Given the description of an element on the screen output the (x, y) to click on. 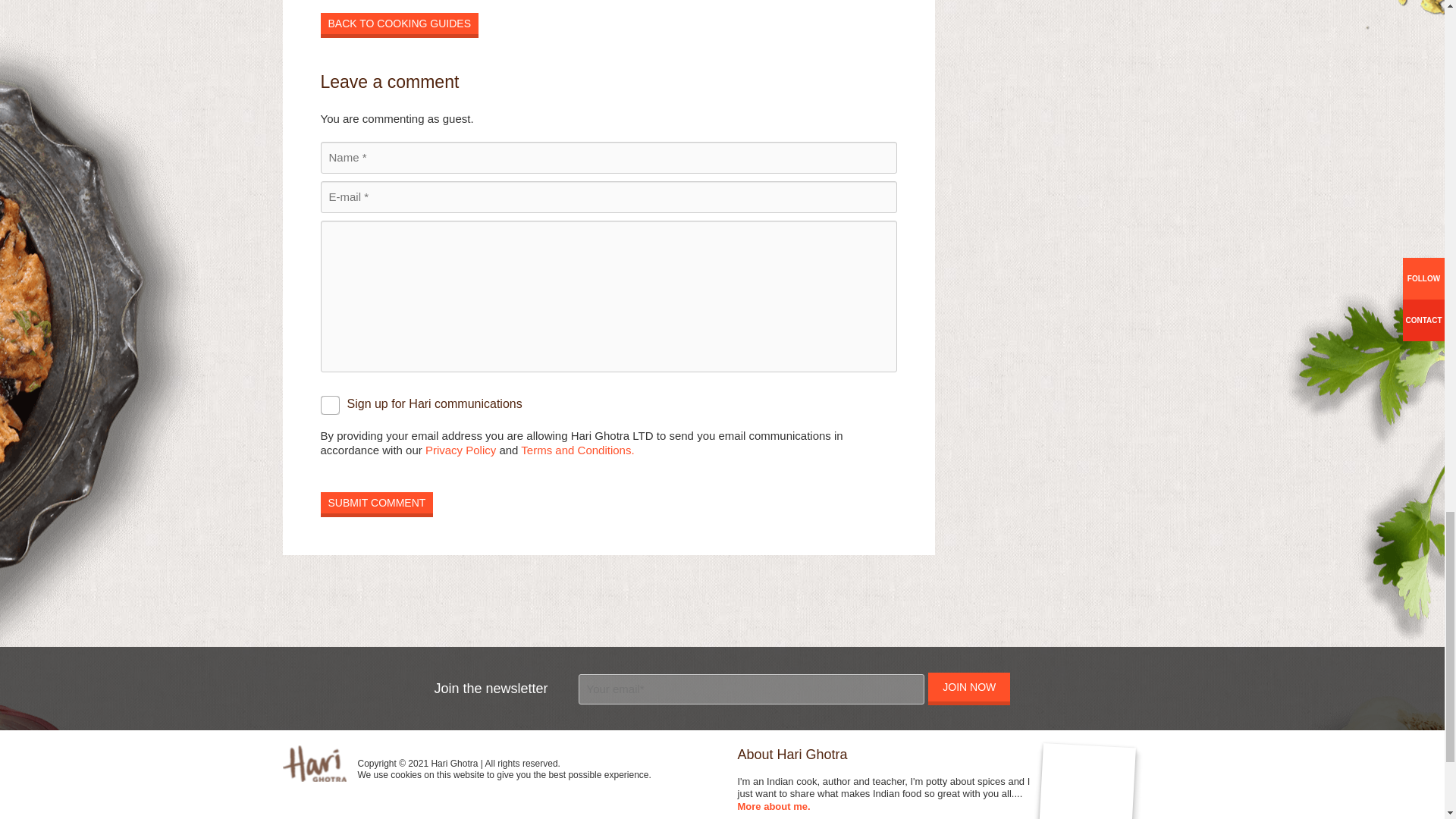
Hari Ghotra (314, 763)
Foodies100 Index of UK Food Blogs (492, 800)
Submit comment (376, 502)
1 (329, 404)
